Given the description of an element on the screen output the (x, y) to click on. 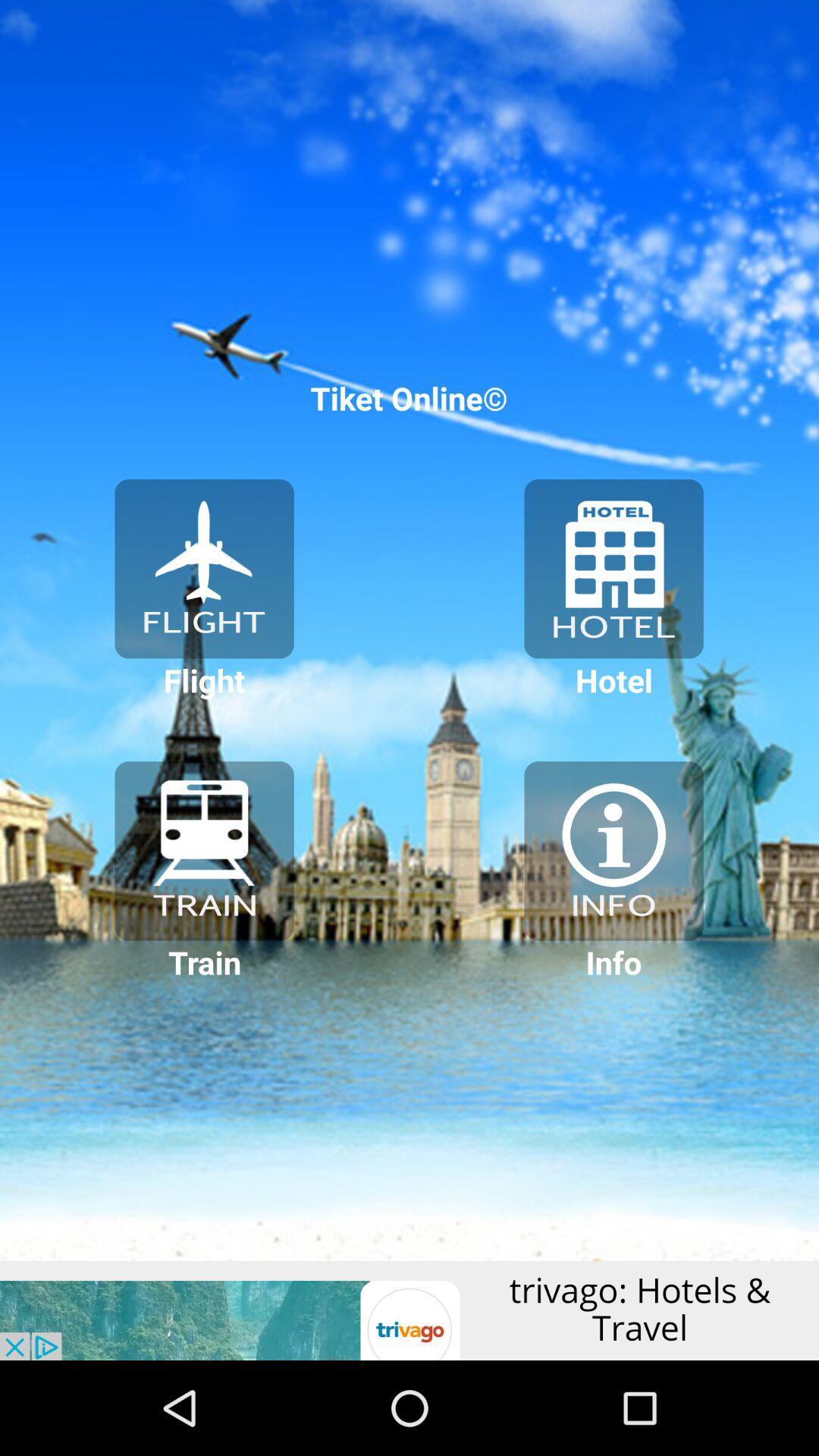
switch to hotel option (613, 568)
